Given the description of an element on the screen output the (x, y) to click on. 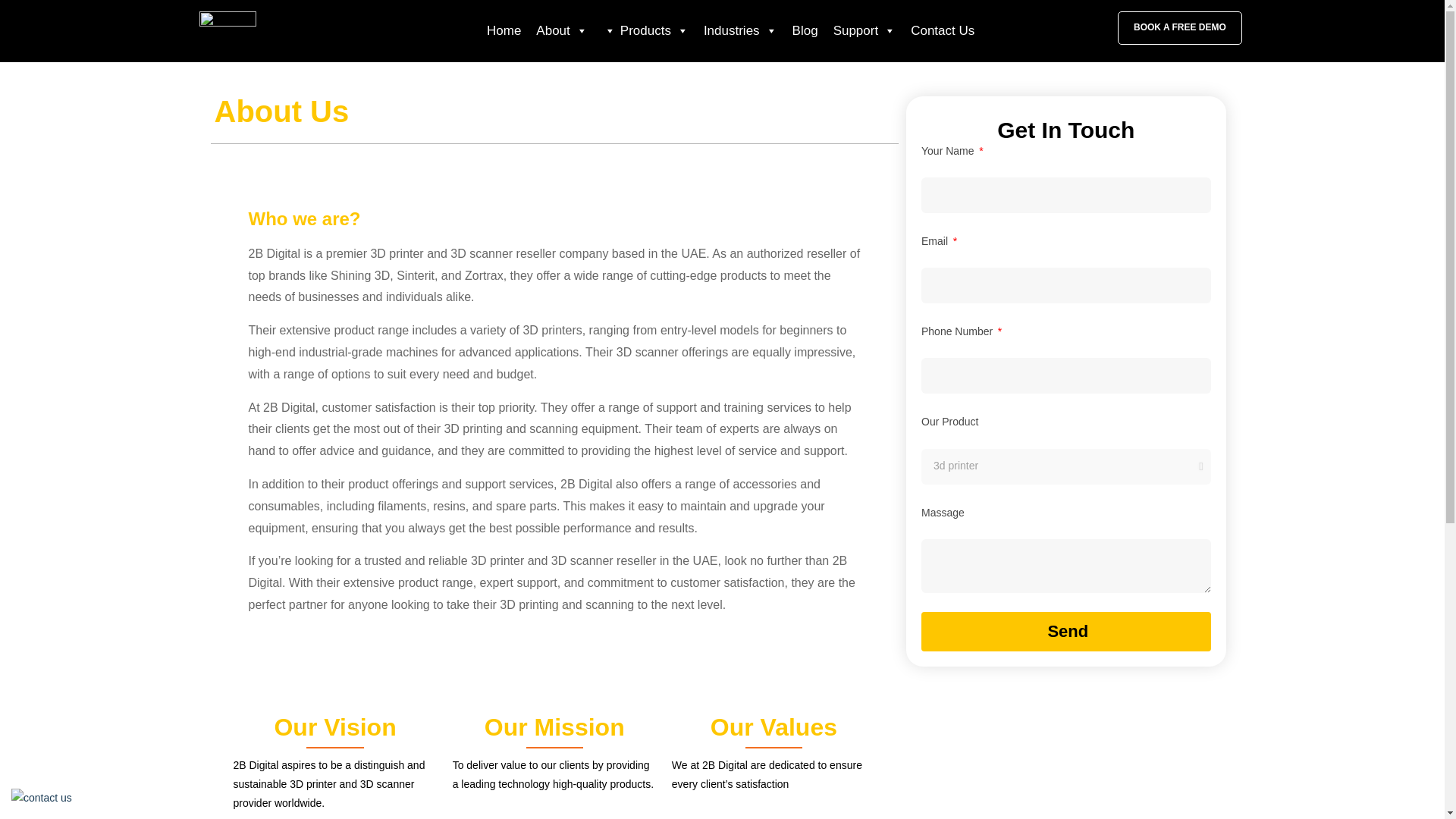
About (561, 30)
Blog (804, 30)
Support (864, 30)
Products (645, 30)
Home (503, 30)
BOOK A FREE DEMO (1179, 28)
Contact Us (941, 30)
Industries (739, 30)
